Given the description of an element on the screen output the (x, y) to click on. 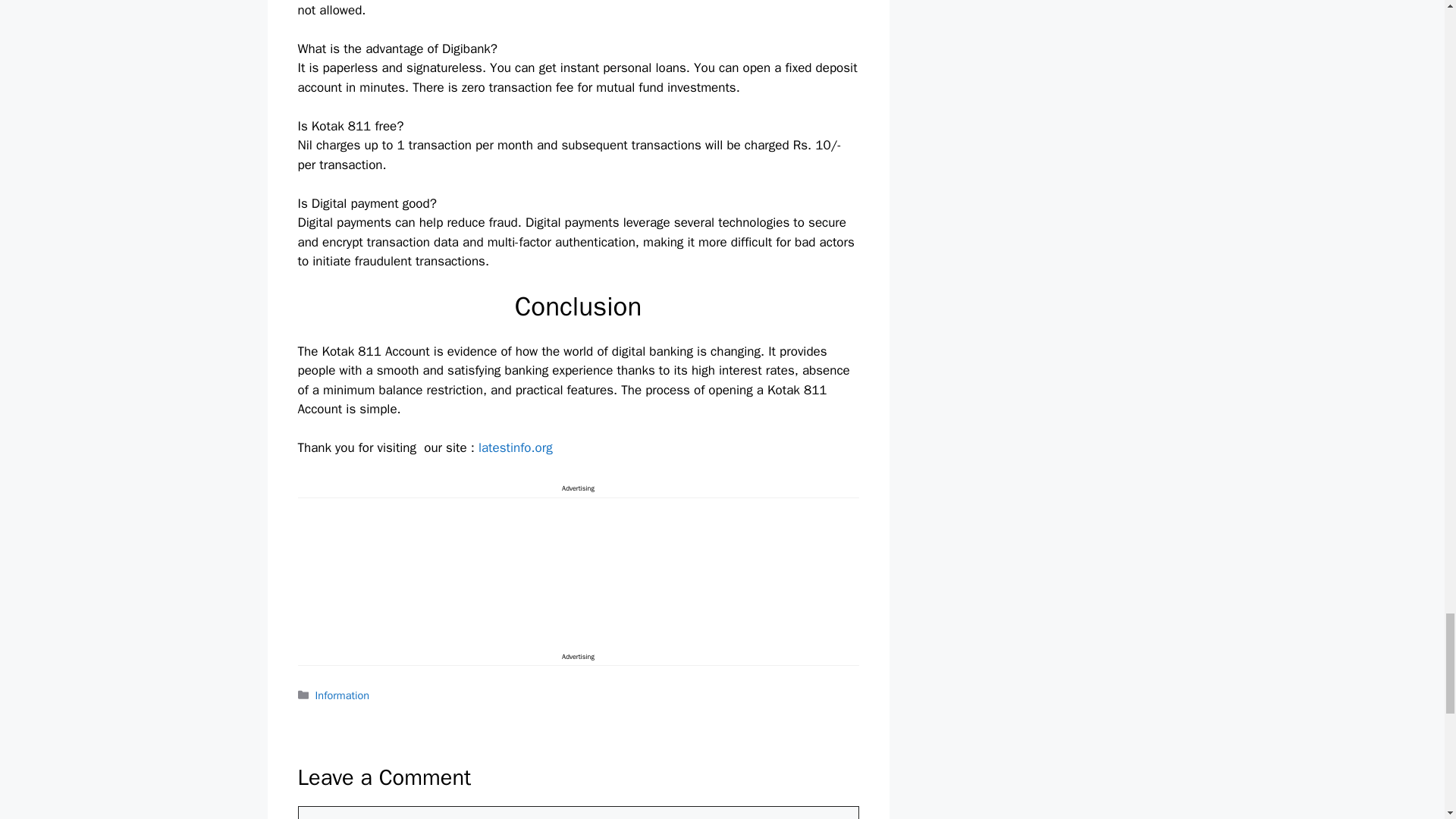
latestinfo.org (513, 447)
Information (342, 694)
